Given the description of an element on the screen output the (x, y) to click on. 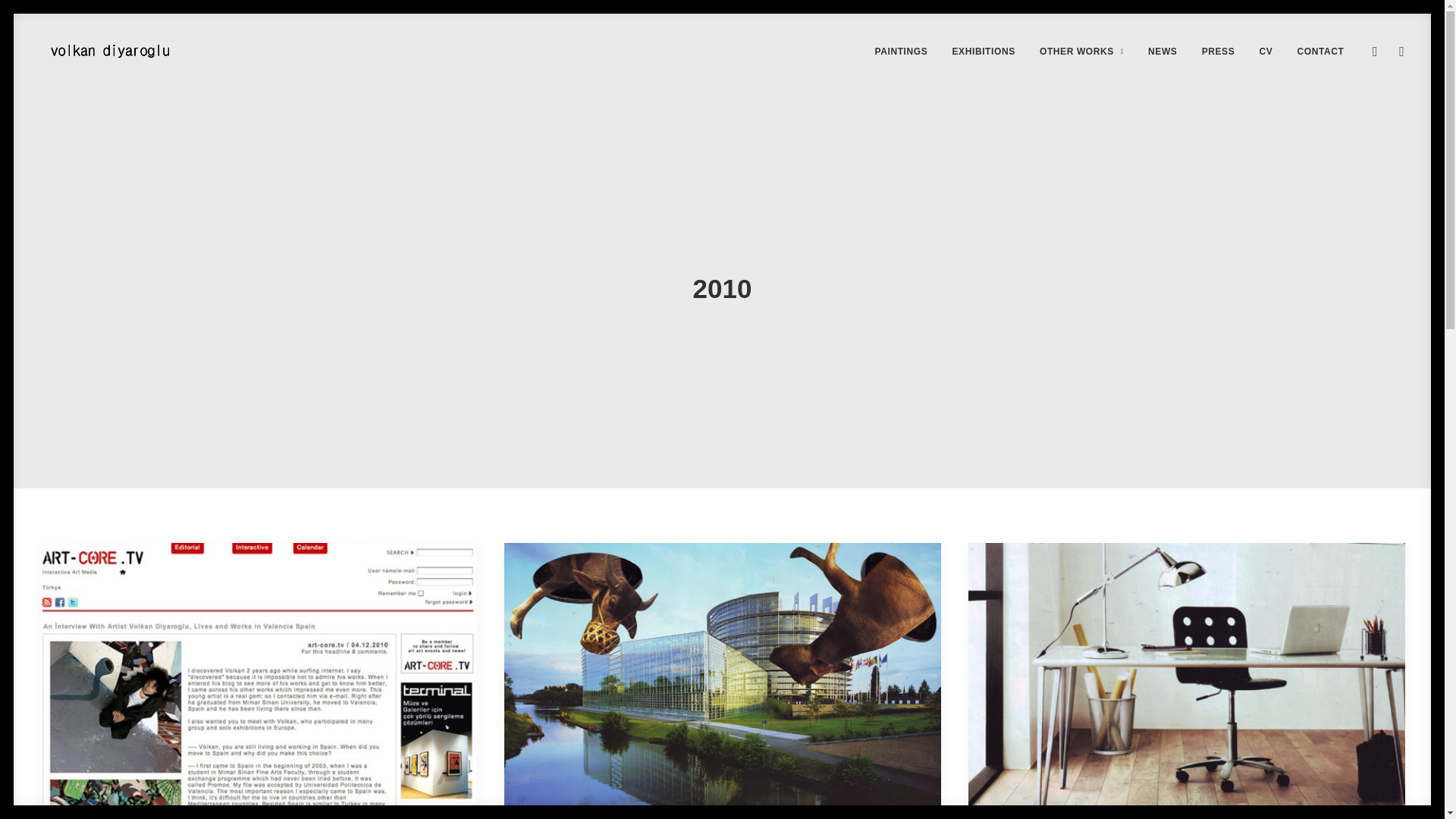
OTHER WORKS (1081, 50)
EXHIBITIONS (984, 50)
PAINTINGS (900, 50)
EXHIBITIONS (984, 50)
PAINTINGS (900, 50)
OTHER WORKS (1081, 50)
